Given the description of an element on the screen output the (x, y) to click on. 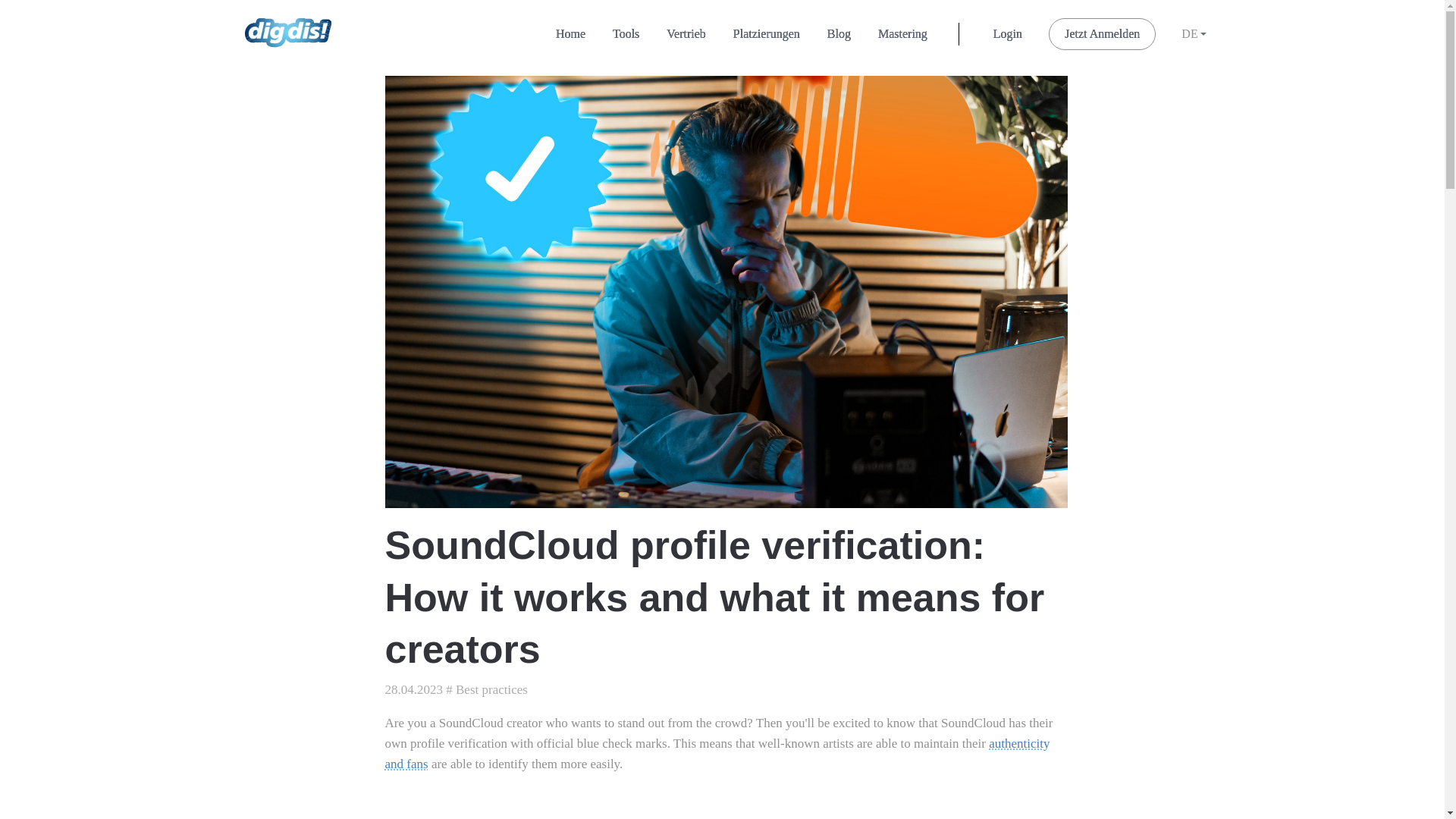
Best practices (491, 689)
Mastering (902, 34)
authenticity and fans (717, 753)
Tools (624, 34)
Best practices (491, 689)
Home (569, 34)
Jetzt Anmelden (1101, 33)
Login (1007, 34)
Platzierungen (766, 34)
Blog (839, 34)
